Given the description of an element on the screen output the (x, y) to click on. 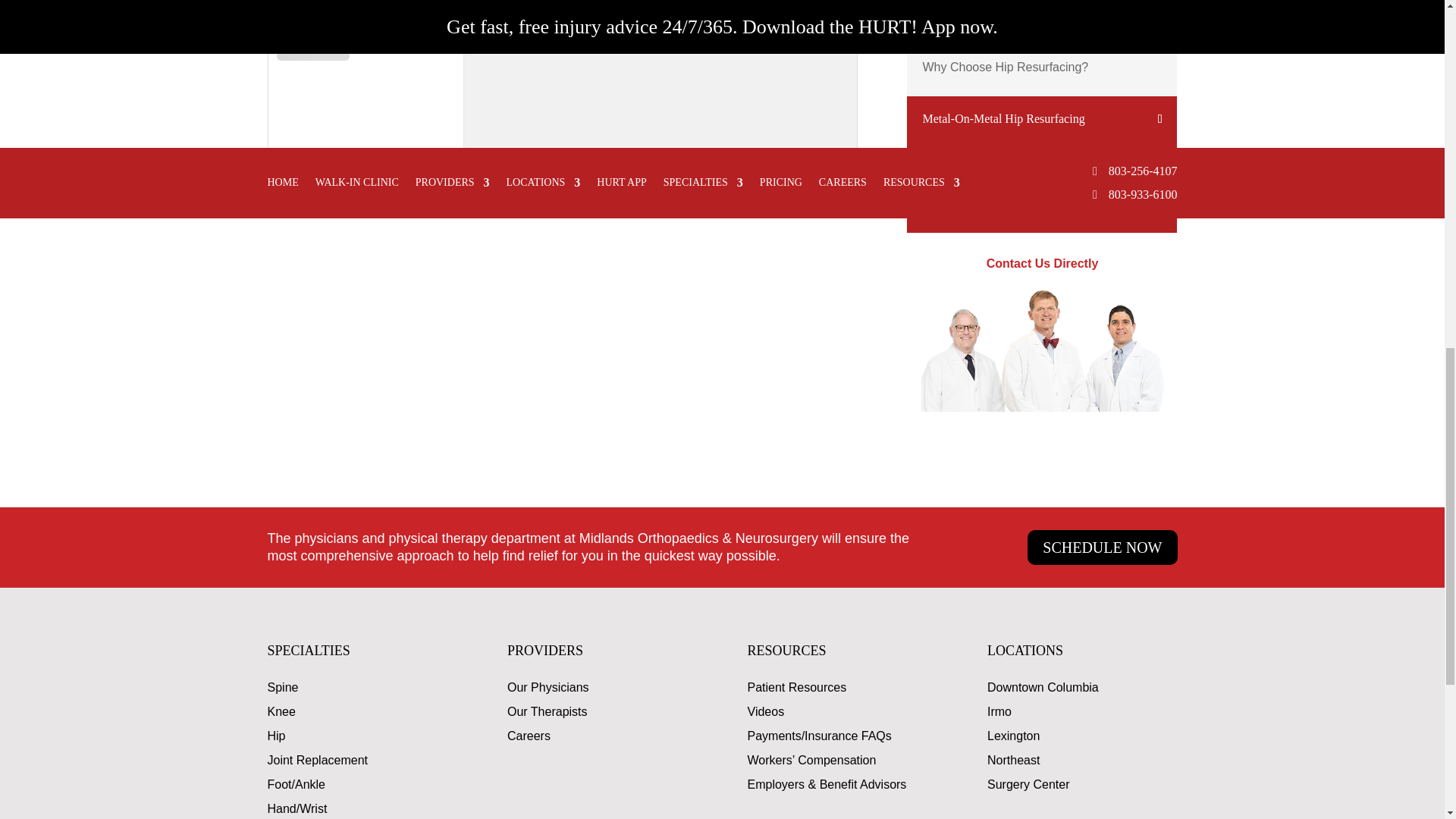
Hip Team Img (1041, 350)
ViewMedica Video Player (561, 102)
